Given the description of an element on the screen output the (x, y) to click on. 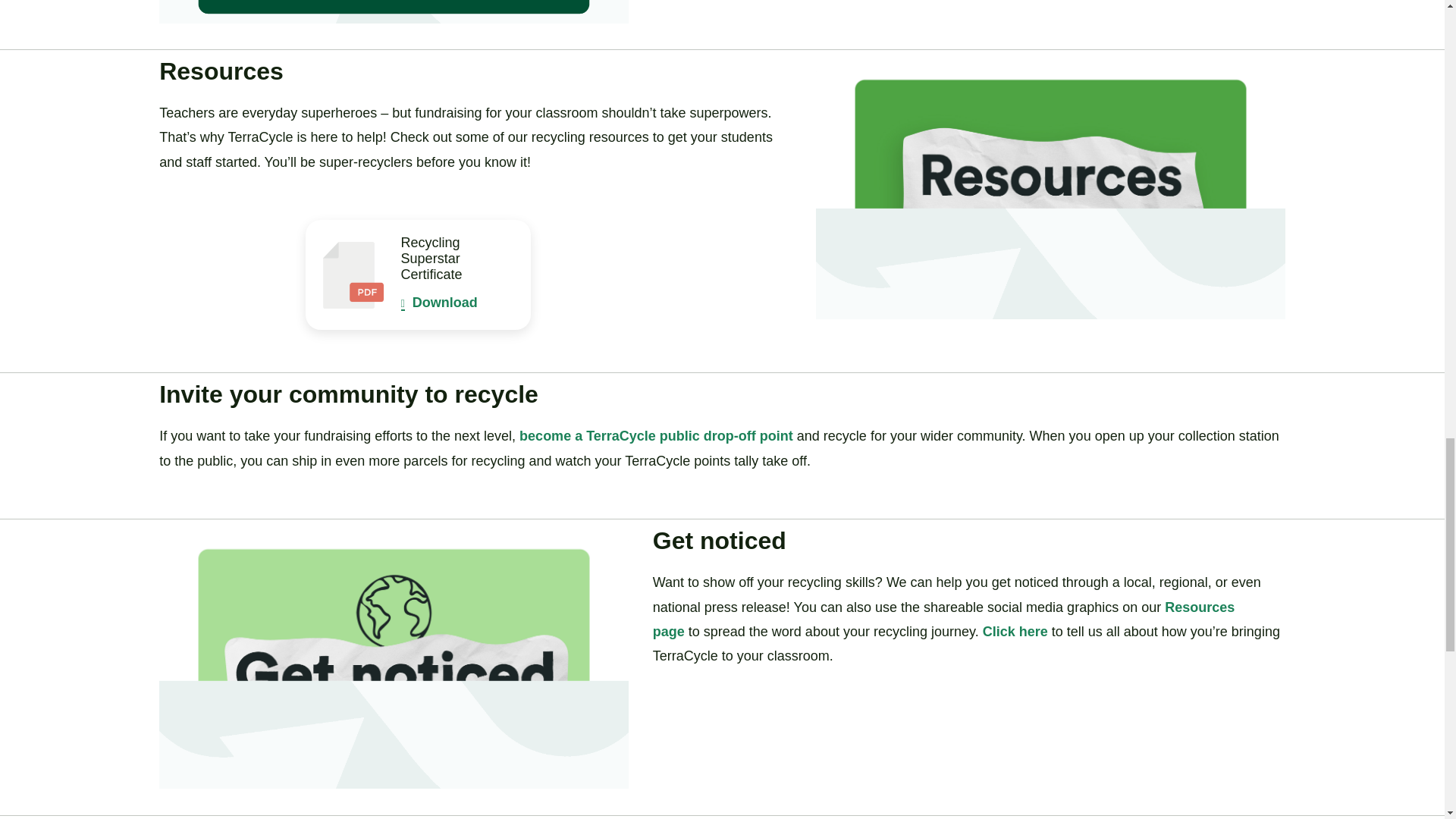
Resources page (943, 619)
become a TerraCycle public drop-off point  (657, 435)
Click here (1015, 631)
Download (439, 302)
